Given the description of an element on the screen output the (x, y) to click on. 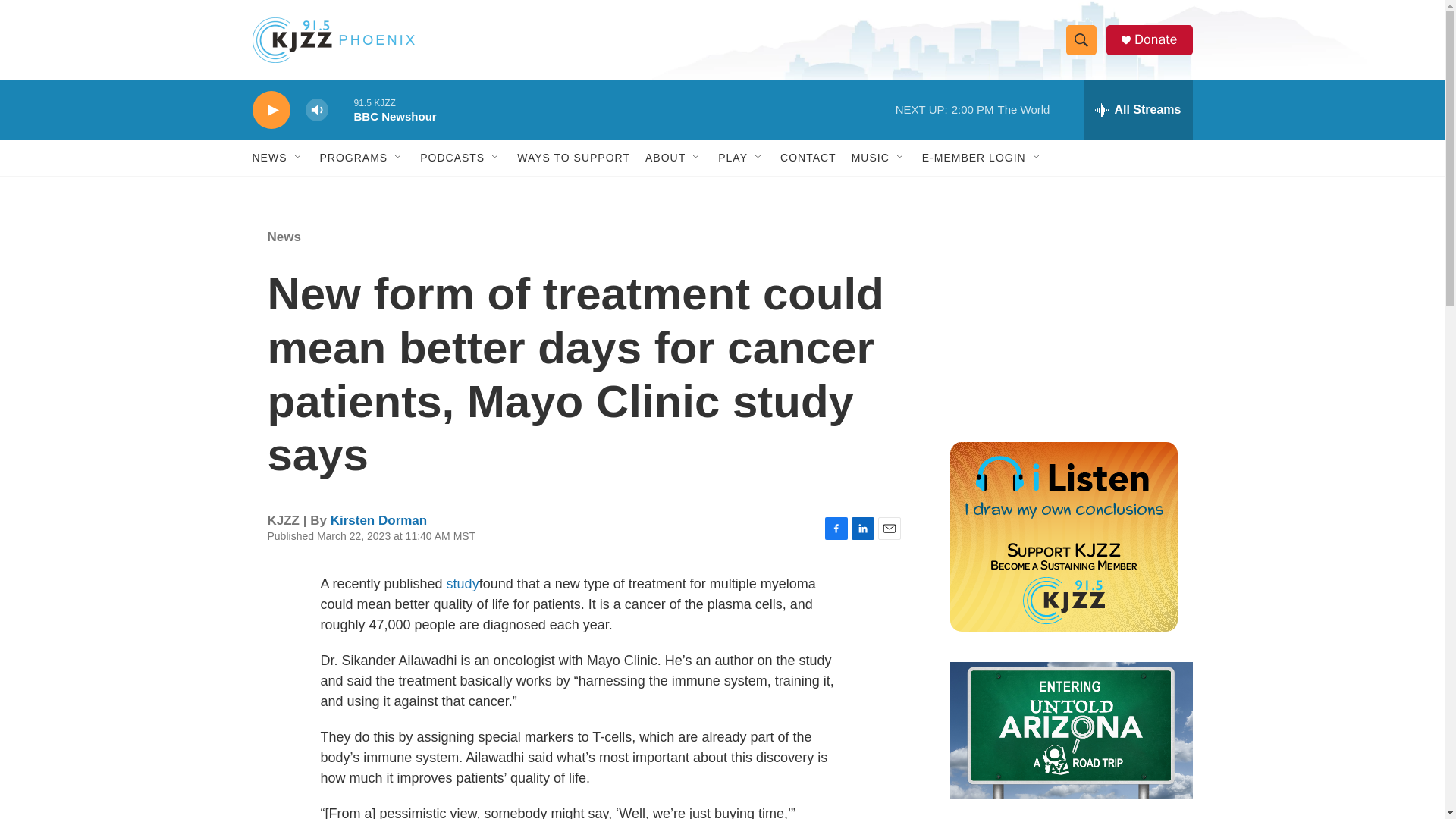
3rd party ad content (1062, 316)
